Given the description of an element on the screen output the (x, y) to click on. 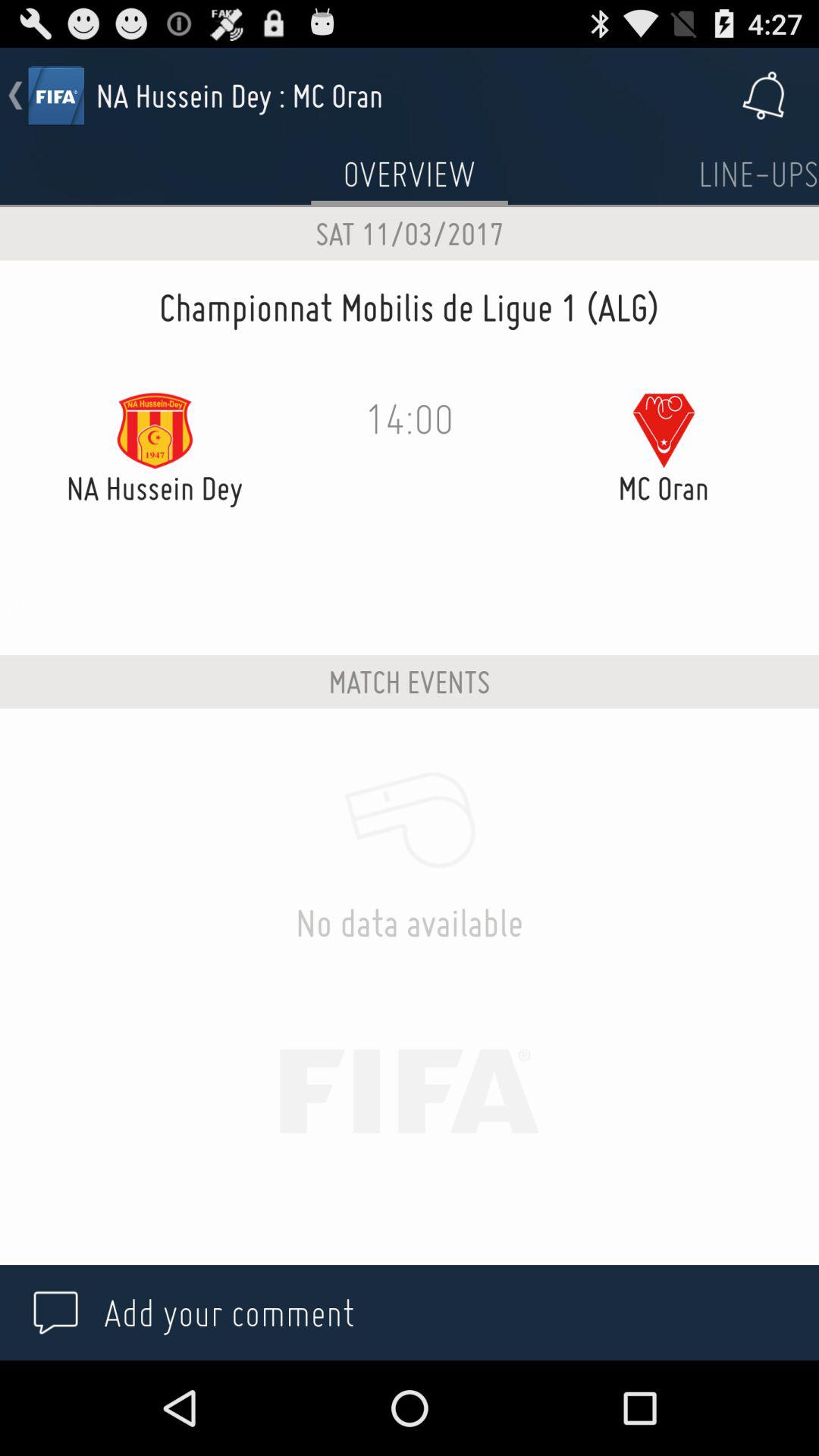
go to the icon above text na hussein dey (154, 430)
select the image which is under match events (409, 820)
click on fifa icon (55, 95)
it is clickable (758, 173)
